Given the description of an element on the screen output the (x, y) to click on. 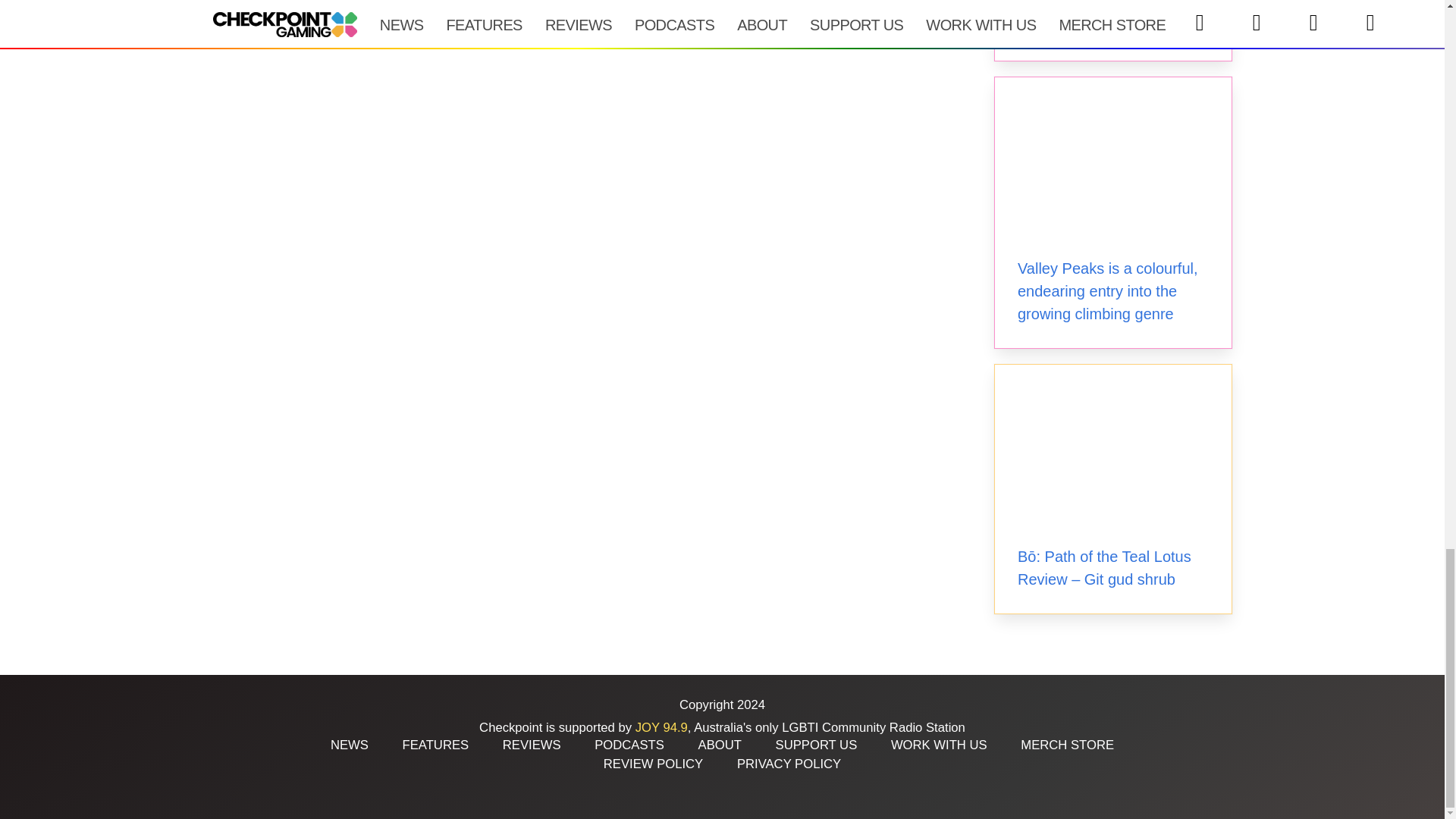
PODCASTS (628, 744)
FEATURES (435, 744)
JOY 94.9 (660, 727)
ABOUT (719, 744)
NEWS (349, 744)
REVIEWS (531, 744)
